Given the description of an element on the screen output the (x, y) to click on. 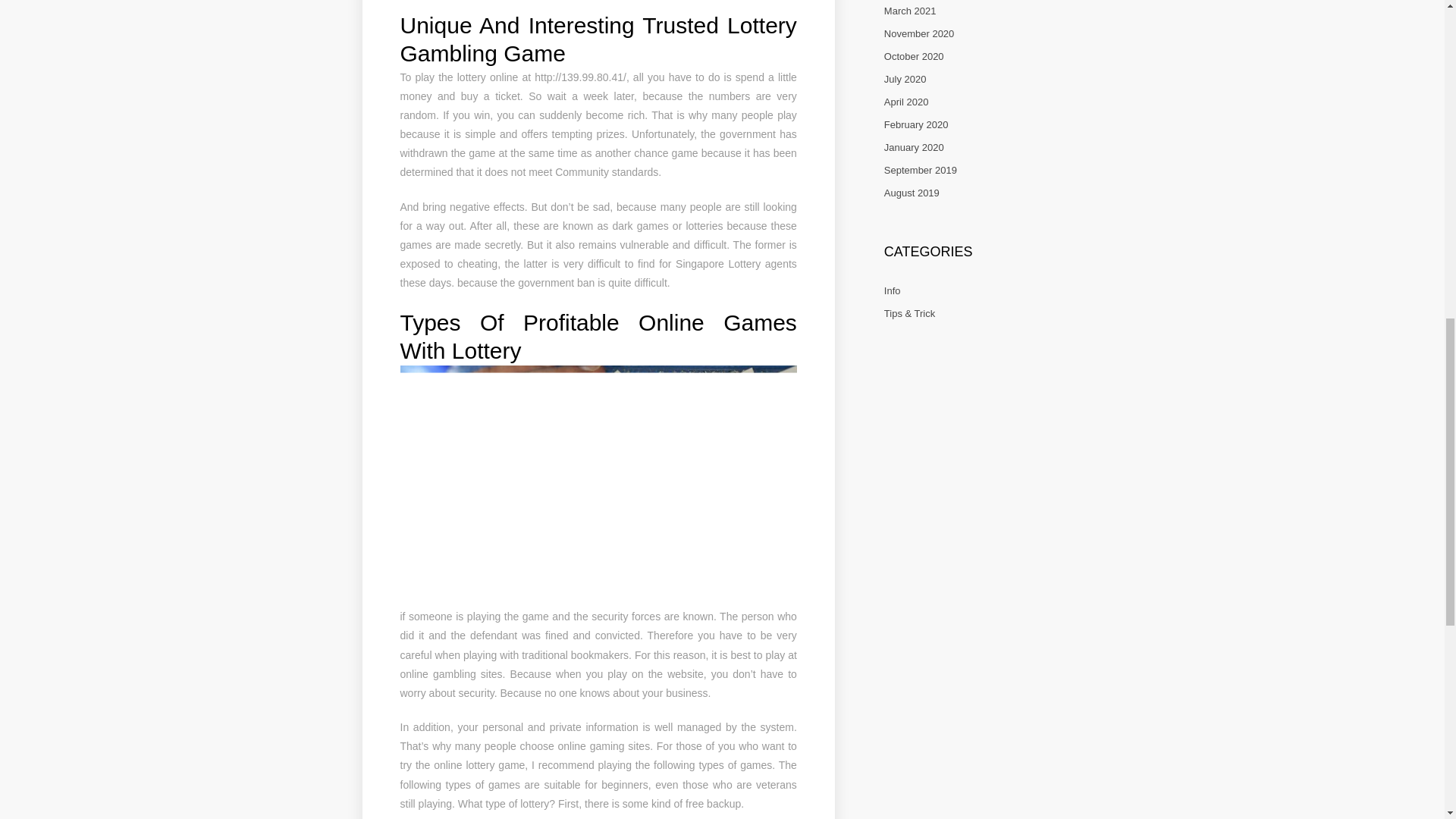
November 2020 (919, 33)
August 2019 (911, 193)
October 2020 (913, 56)
September 2019 (919, 170)
July 2020 (904, 79)
Info (892, 290)
January 2020 (913, 147)
March 2021 (909, 10)
February 2020 (916, 124)
April 2020 (905, 101)
